Given the description of an element on the screen output the (x, y) to click on. 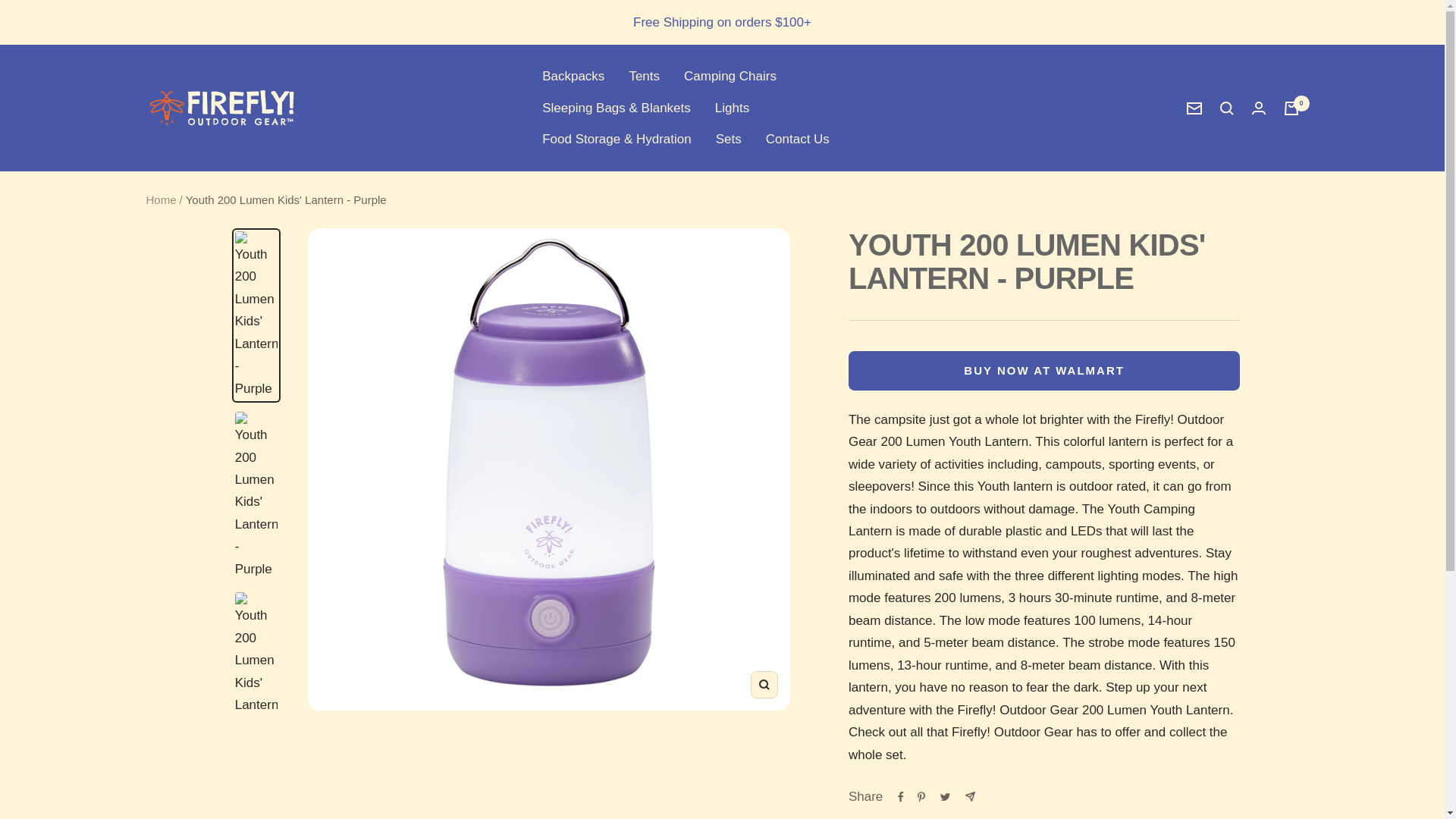
Home (160, 199)
Lights (731, 107)
Sets (728, 138)
Zoom (764, 684)
Contact Us (797, 138)
0 (1291, 108)
BUY NOW AT WALMART (1044, 370)
Backpacks (572, 75)
Tents (643, 75)
Camping Chairs (730, 75)
Newsletter (1194, 108)
firefly-outdoorgear (221, 108)
